Given the description of an element on the screen output the (x, y) to click on. 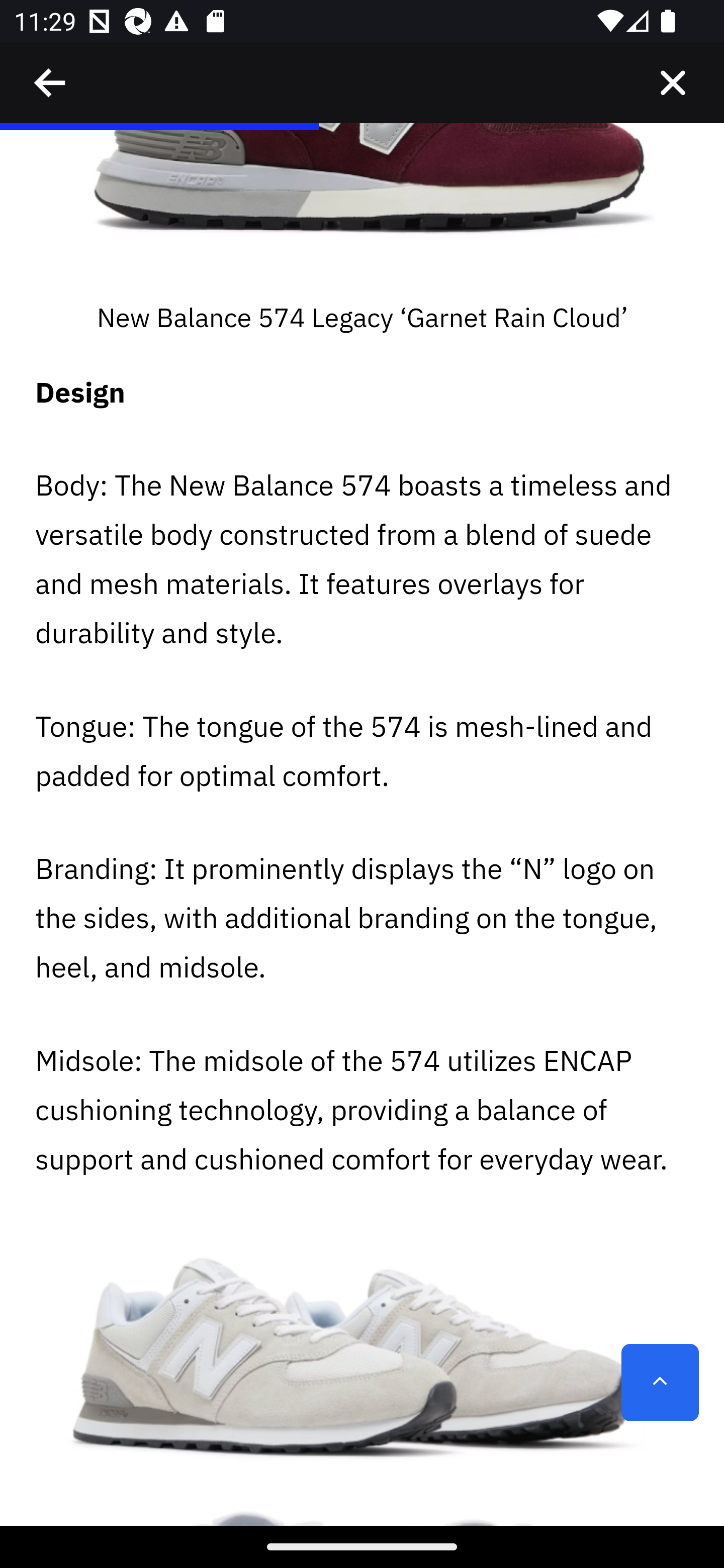
 (50, 83)
 (672, 83)
Scroll to top  (659, 1382)
